Given the description of an element on the screen output the (x, y) to click on. 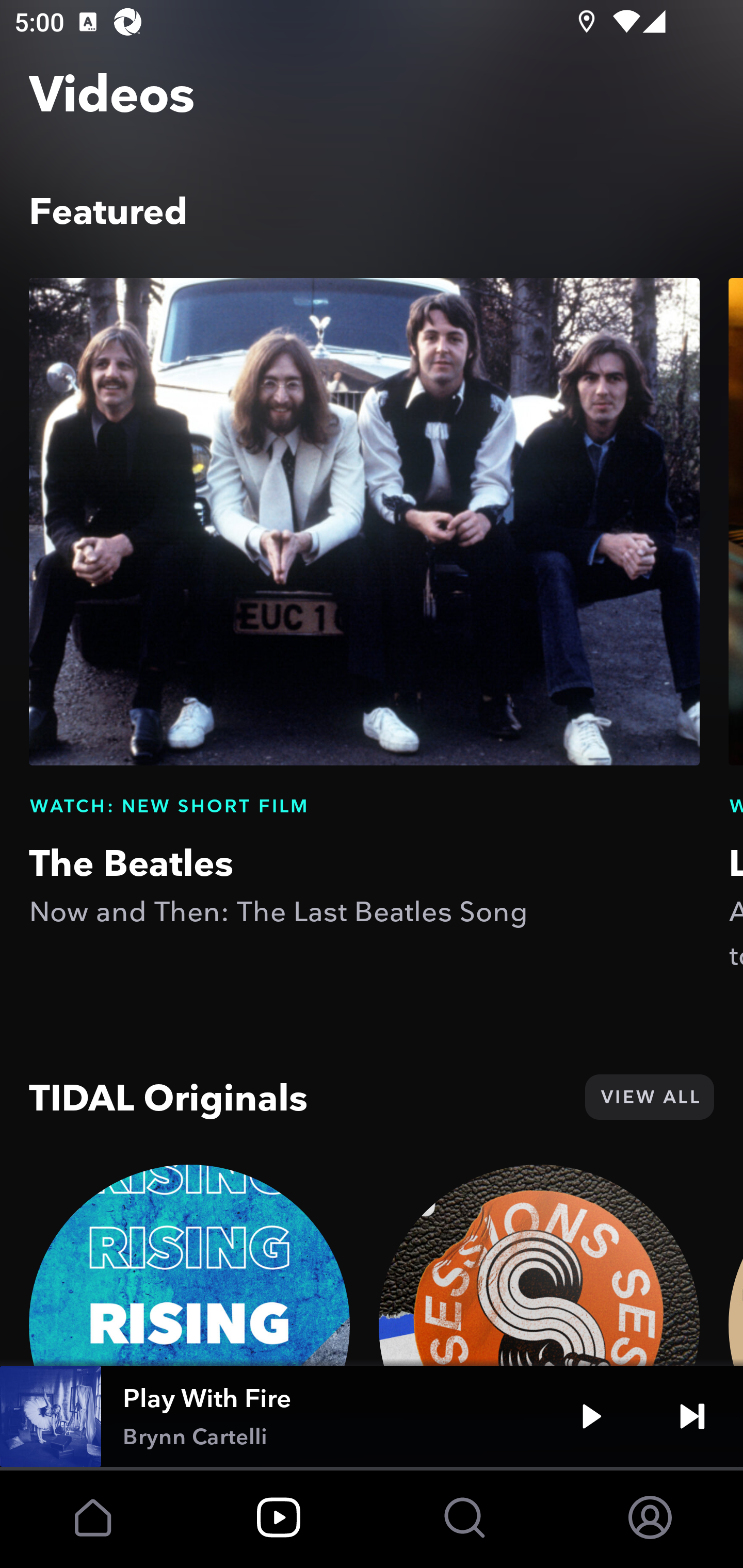
VIEW ALL (649, 1096)
Play With Fire Brynn Cartelli Play (371, 1416)
Play (590, 1416)
